Given the description of an element on the screen output the (x, y) to click on. 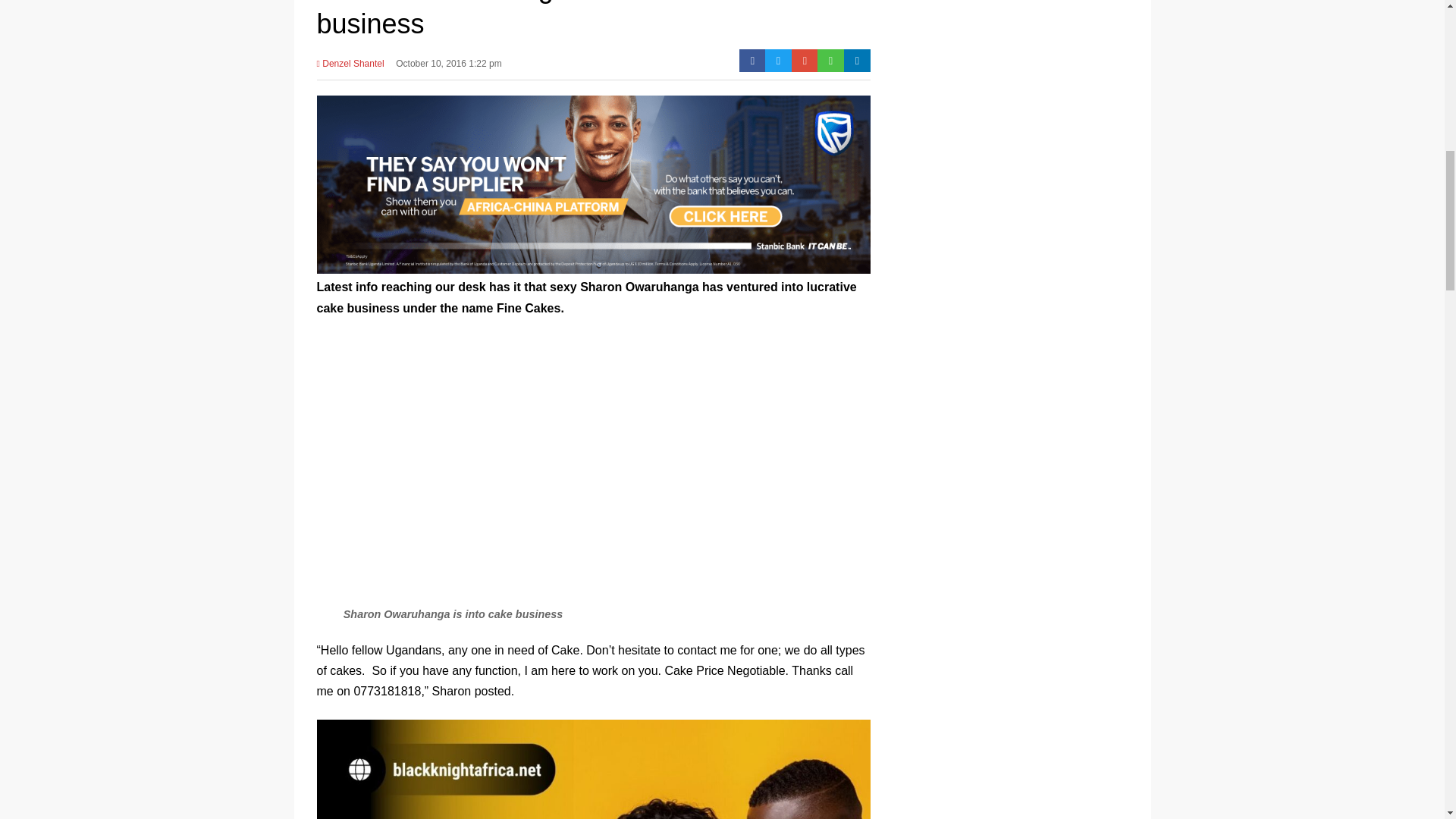
Twitter (778, 60)
October 10, 2016 1:22 pm (448, 67)
Facebook (752, 60)
Denzel Shantel (350, 67)
Whatsapp (830, 60)
Linkedin (857, 60)
Google-plus (805, 60)
